Given the description of an element on the screen output the (x, y) to click on. 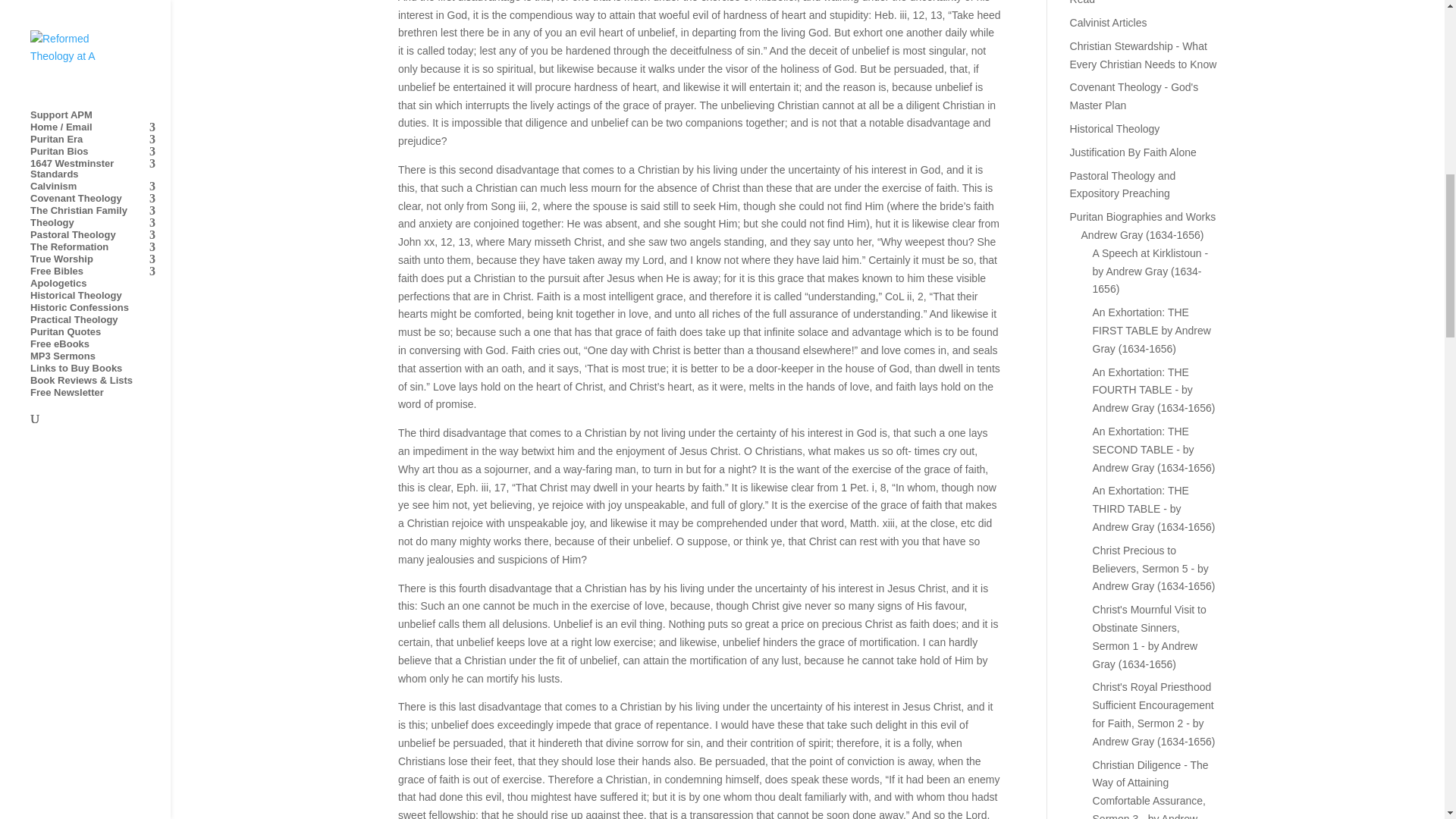
Christian Stewardship - What Every Christian Needs to Know (1143, 55)
Covenant Theology - God's Master Plan (1134, 96)
Book Reviews - Take and Read (1129, 2)
Calvinist Articles (1108, 22)
